Given the description of an element on the screen output the (x, y) to click on. 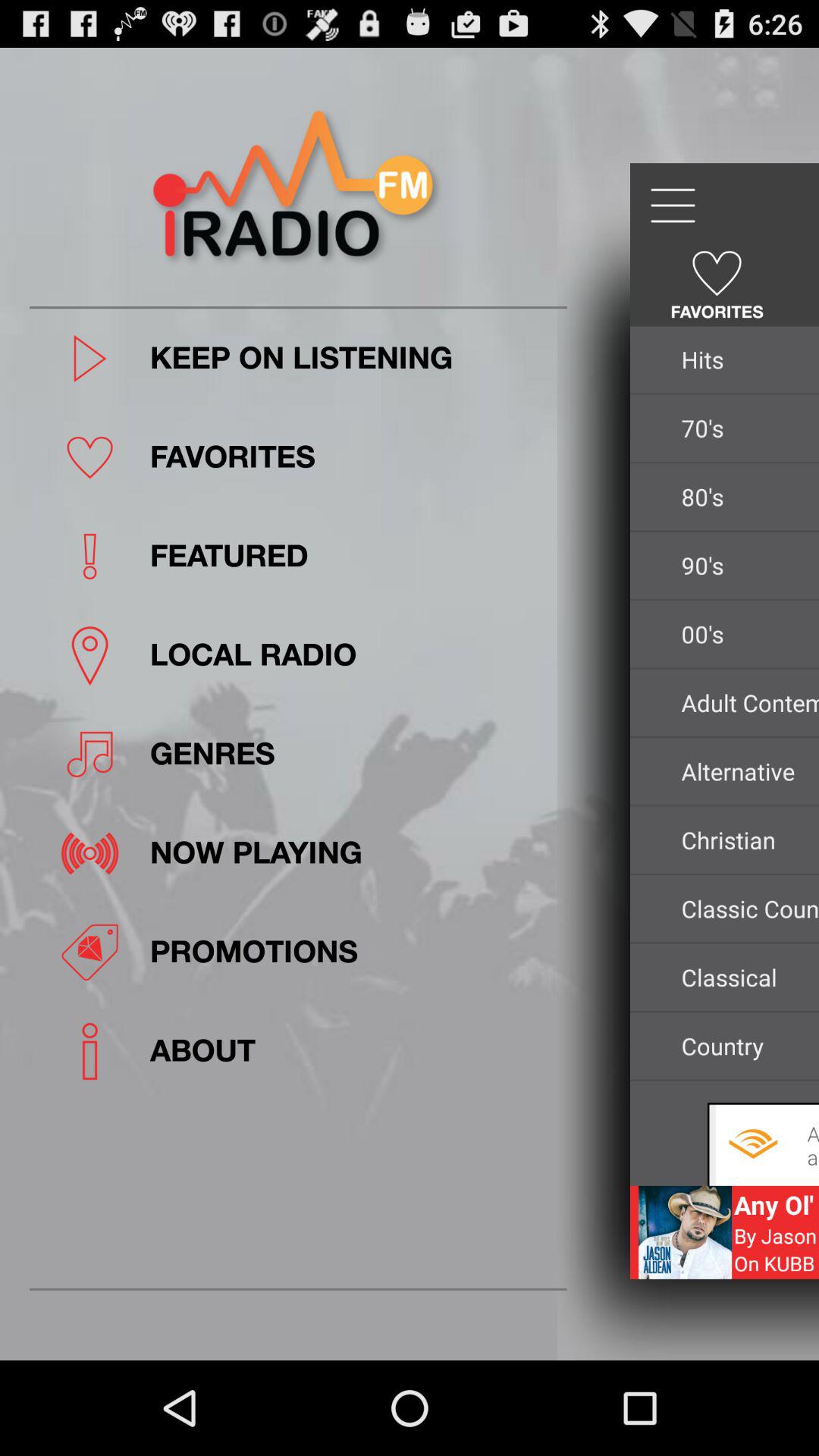
select the app below adult contemporary icon (745, 771)
